Given the description of an element on the screen output the (x, y) to click on. 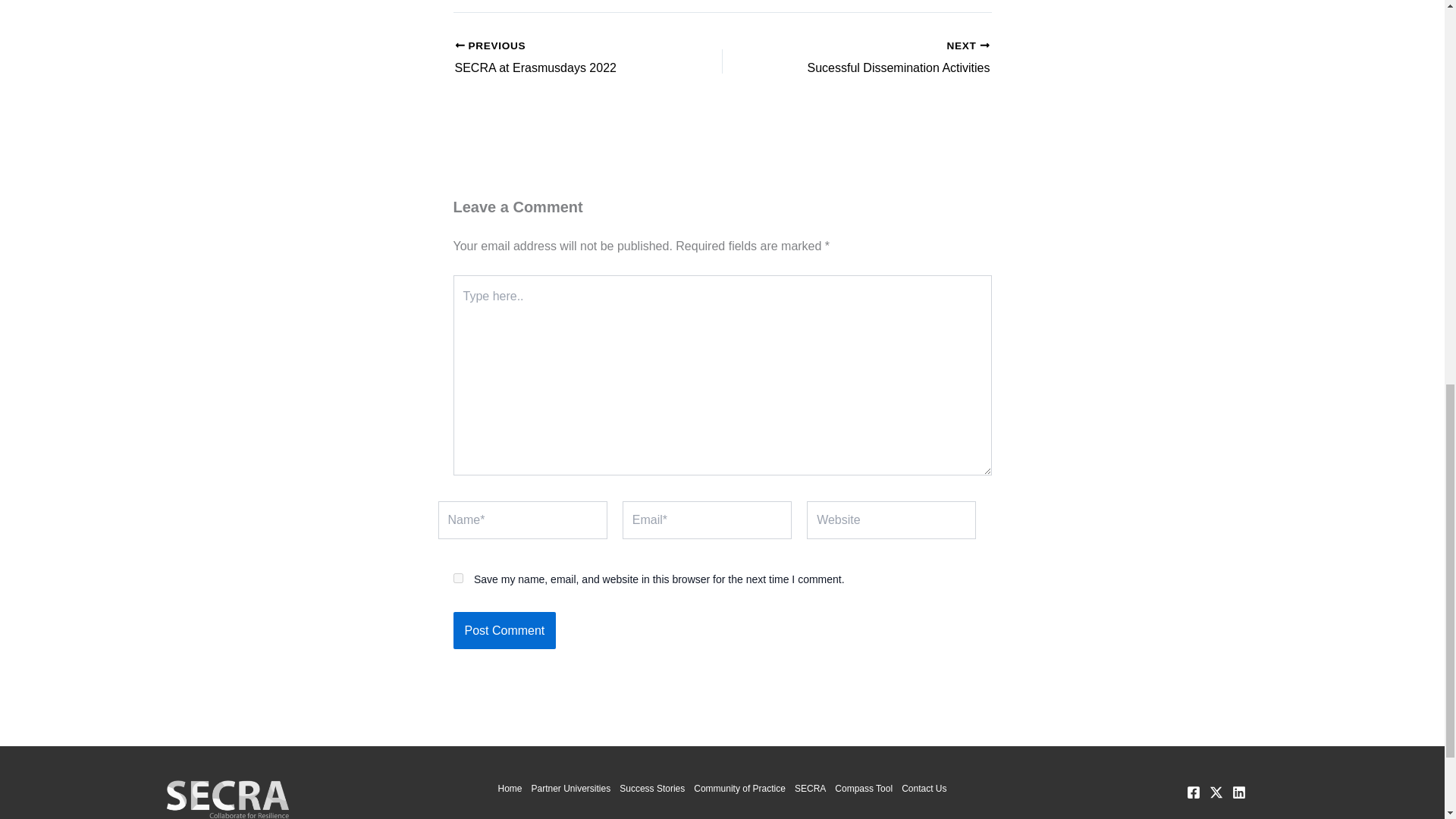
Contact Us (921, 788)
yes (457, 578)
Community of Practice (739, 788)
Compass Tool (561, 57)
Sucessful Dissemination Activities (862, 788)
Home (882, 57)
SECRA (511, 788)
Post Comment (809, 788)
SECRA at Erasmusdays 2022 (504, 630)
Partner Universities (561, 57)
Post Comment (882, 57)
Success Stories (569, 788)
